Given the description of an element on the screen output the (x, y) to click on. 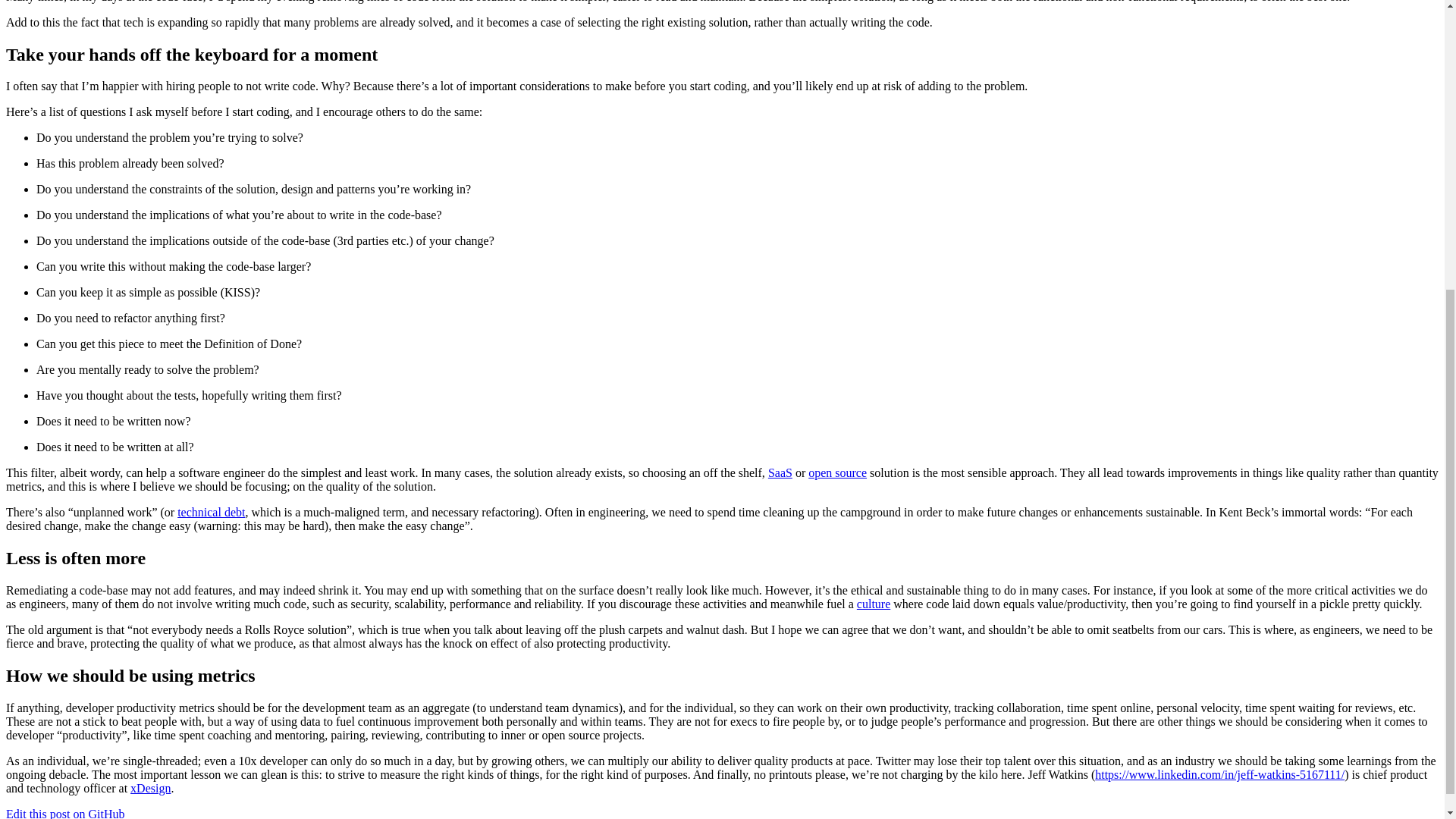
open source (837, 472)
technical debt (210, 512)
culture (873, 603)
SaaS (780, 472)
xDesign (150, 788)
